Given the description of an element on the screen output the (x, y) to click on. 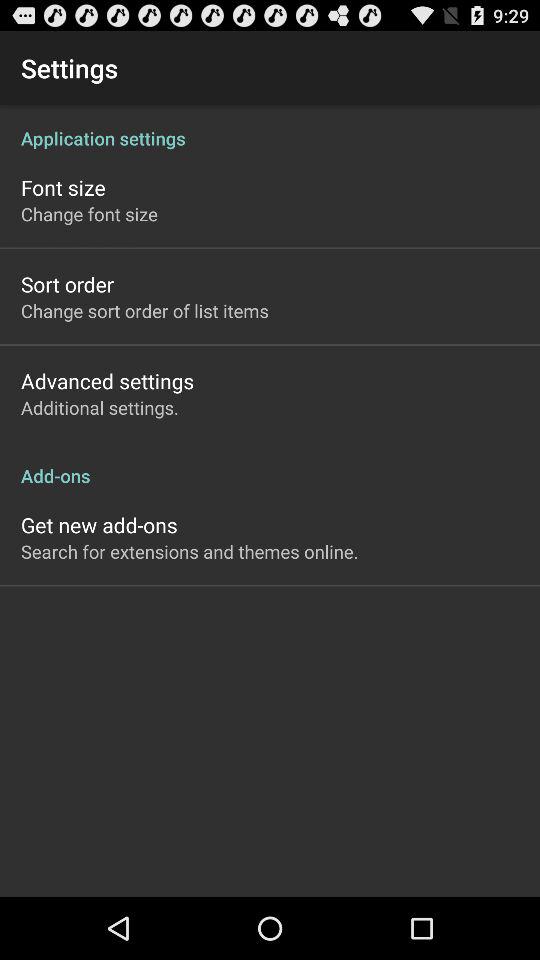
tap the app below get new add app (189, 551)
